Given the description of an element on the screen output the (x, y) to click on. 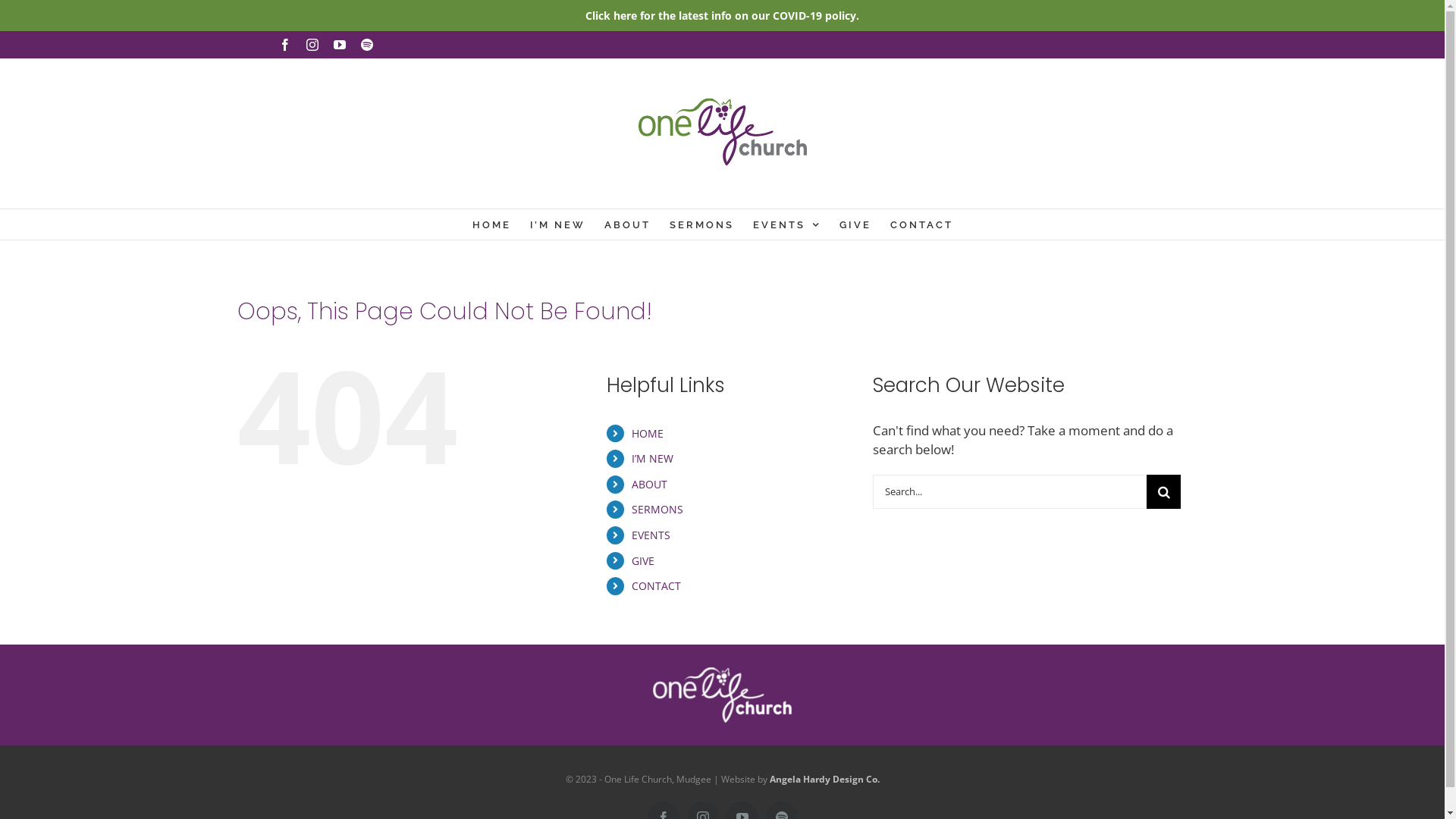
Spotify Element type: text (366, 44)
SERMONS Element type: text (657, 509)
YouTube Element type: text (339, 44)
CONTACT Element type: text (655, 585)
HOME Element type: text (647, 433)
GIVE Element type: text (642, 560)
Angela Hardy Design Co. Element type: text (823, 778)
ABOUT Element type: text (649, 483)
Click here for the latest info on our COVID-19 policy. Element type: text (722, 15)
CONTACT Element type: text (921, 224)
Facebook Element type: text (285, 44)
SERMONS Element type: text (701, 224)
Instagram Element type: text (312, 44)
EVENTS Element type: text (650, 534)
GIVE Element type: text (855, 224)
HOME Element type: text (491, 224)
ABOUT Element type: text (627, 224)
EVENTS Element type: text (786, 224)
